Given the description of an element on the screen output the (x, y) to click on. 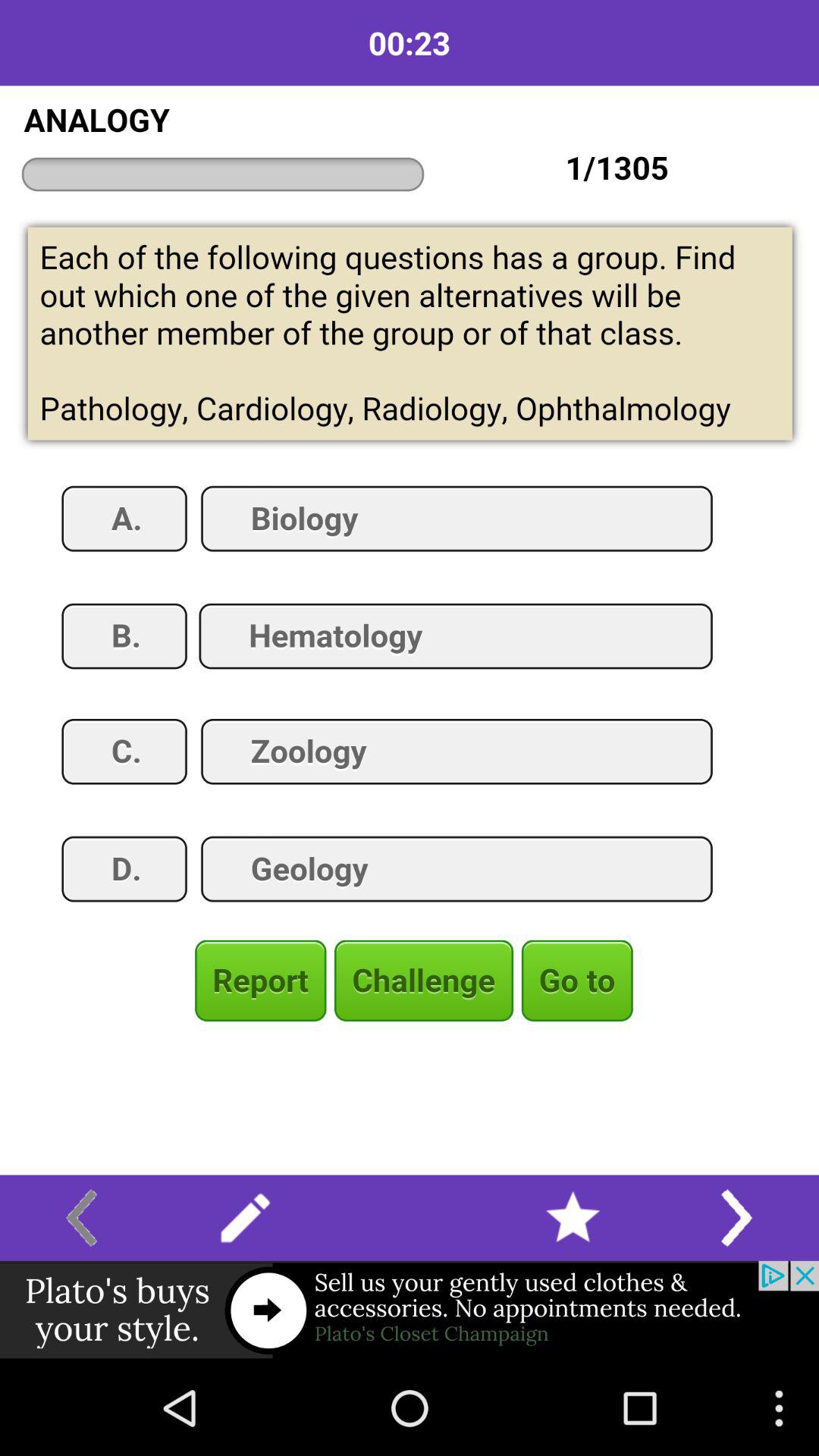
opens advertisement (409, 1310)
